Given the description of an element on the screen output the (x, y) to click on. 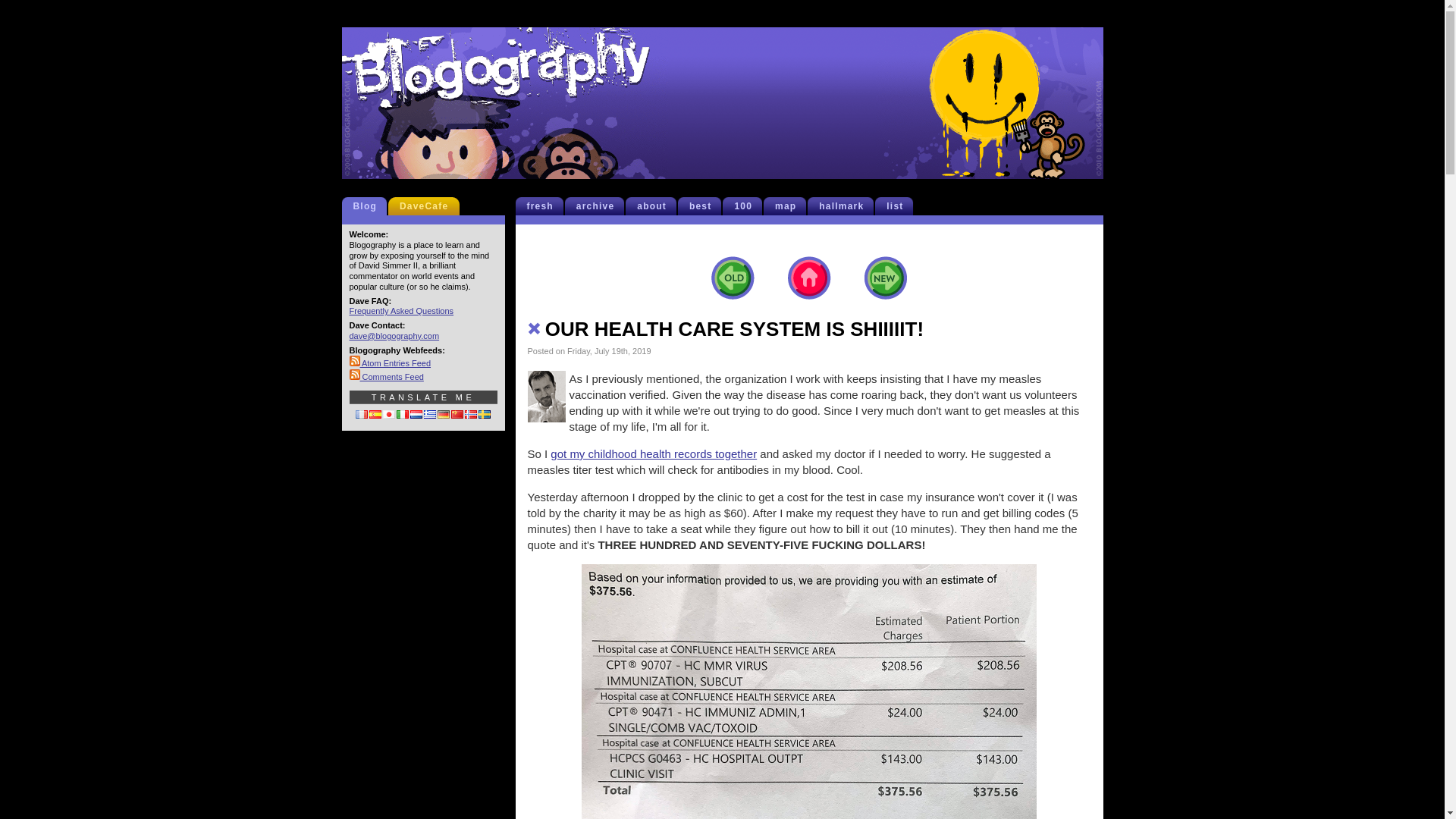
Blog (368, 206)
DaveCafe (427, 206)
got my childhood health records together (653, 453)
Atom Entries Feed (389, 362)
fresh (542, 206)
about (654, 206)
map (789, 206)
best (703, 206)
Frequently Asked Questions (400, 310)
100 (745, 206)
